Given the description of an element on the screen output the (x, y) to click on. 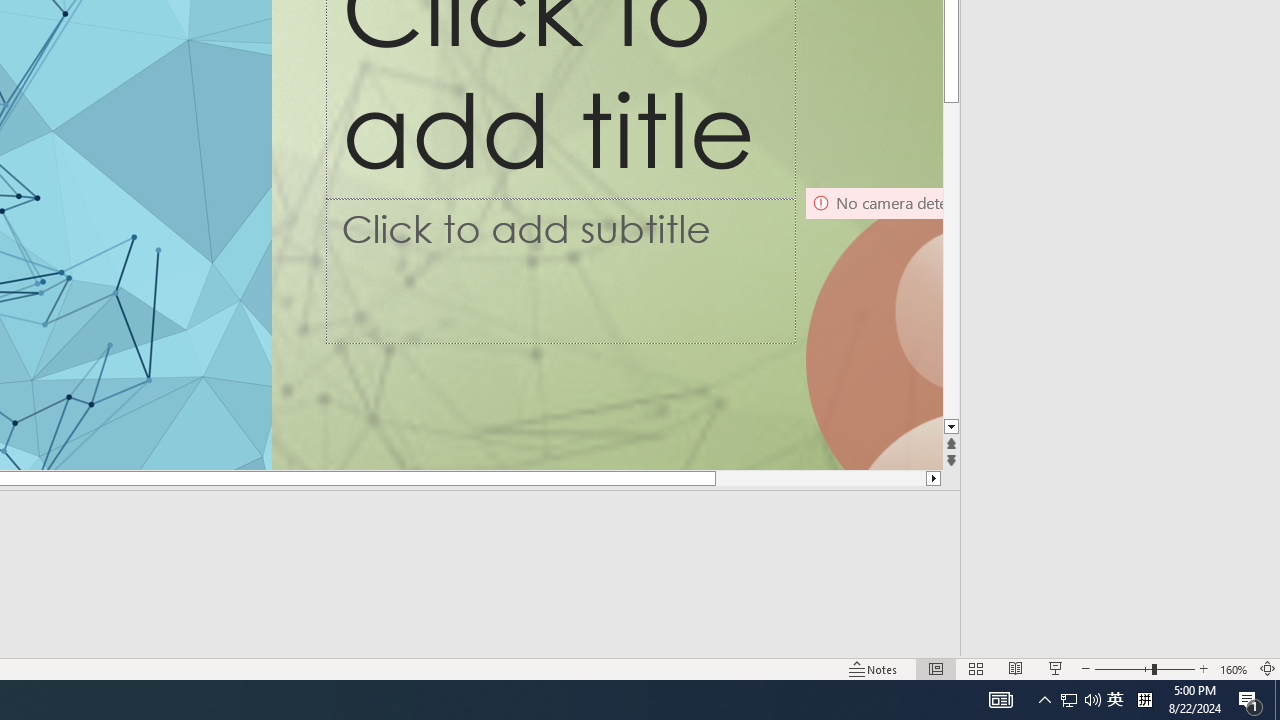
Subtitle TextBox (561, 271)
Camera 9, No camera detected. (873, 327)
Zoom 160% (1234, 668)
